Given the description of an element on the screen output the (x, y) to click on. 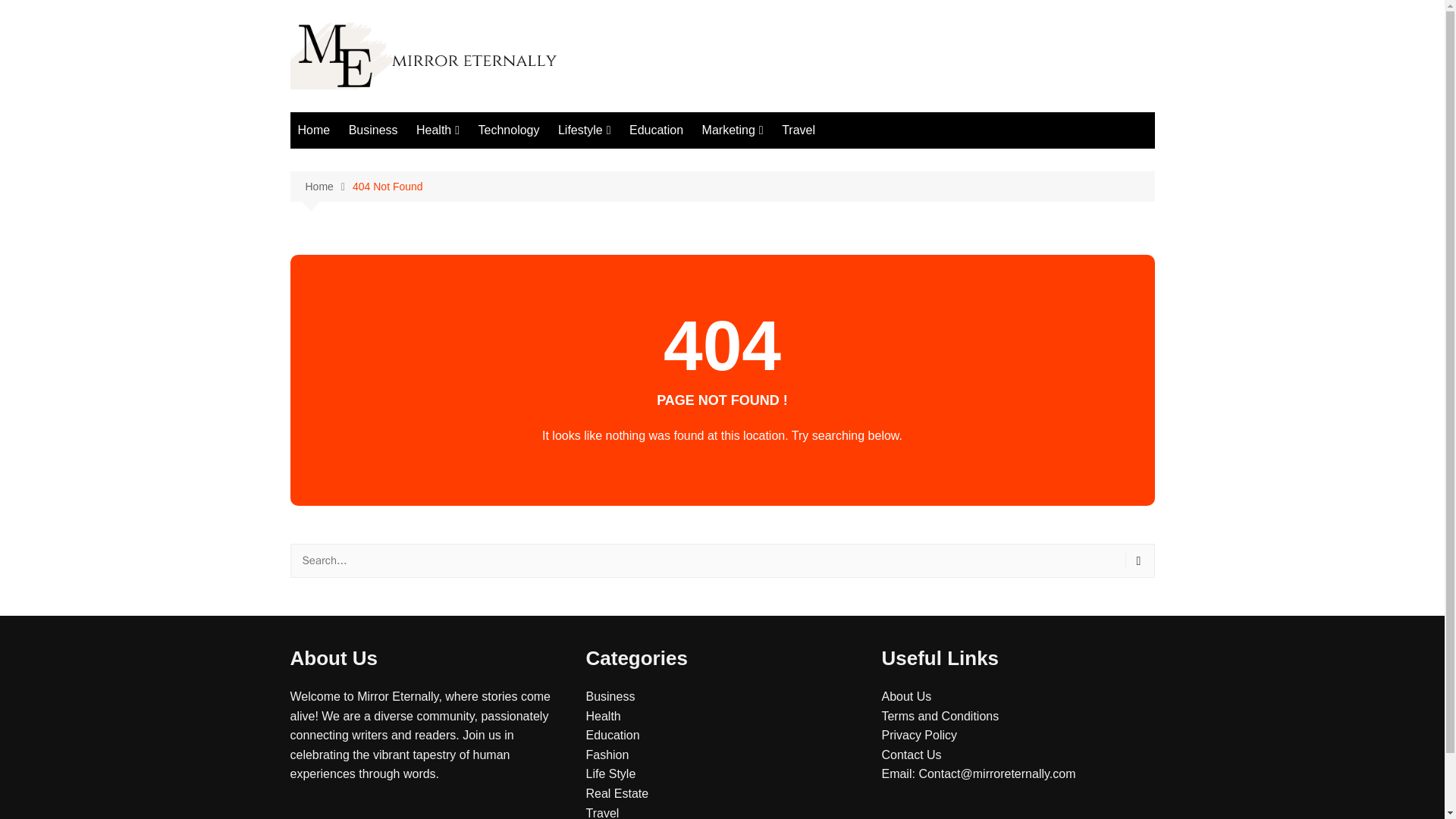
Health (438, 130)
Home (313, 130)
Privacy Policy (918, 735)
Marketing (732, 130)
Travel (798, 130)
About Us (905, 696)
Fashion (633, 160)
404 Not Found (387, 186)
Real Estate (616, 793)
Home (328, 186)
Business (373, 130)
Education (655, 130)
Terms and Conditions (939, 716)
Fashion (606, 754)
Business (609, 696)
